Given the description of an element on the screen output the (x, y) to click on. 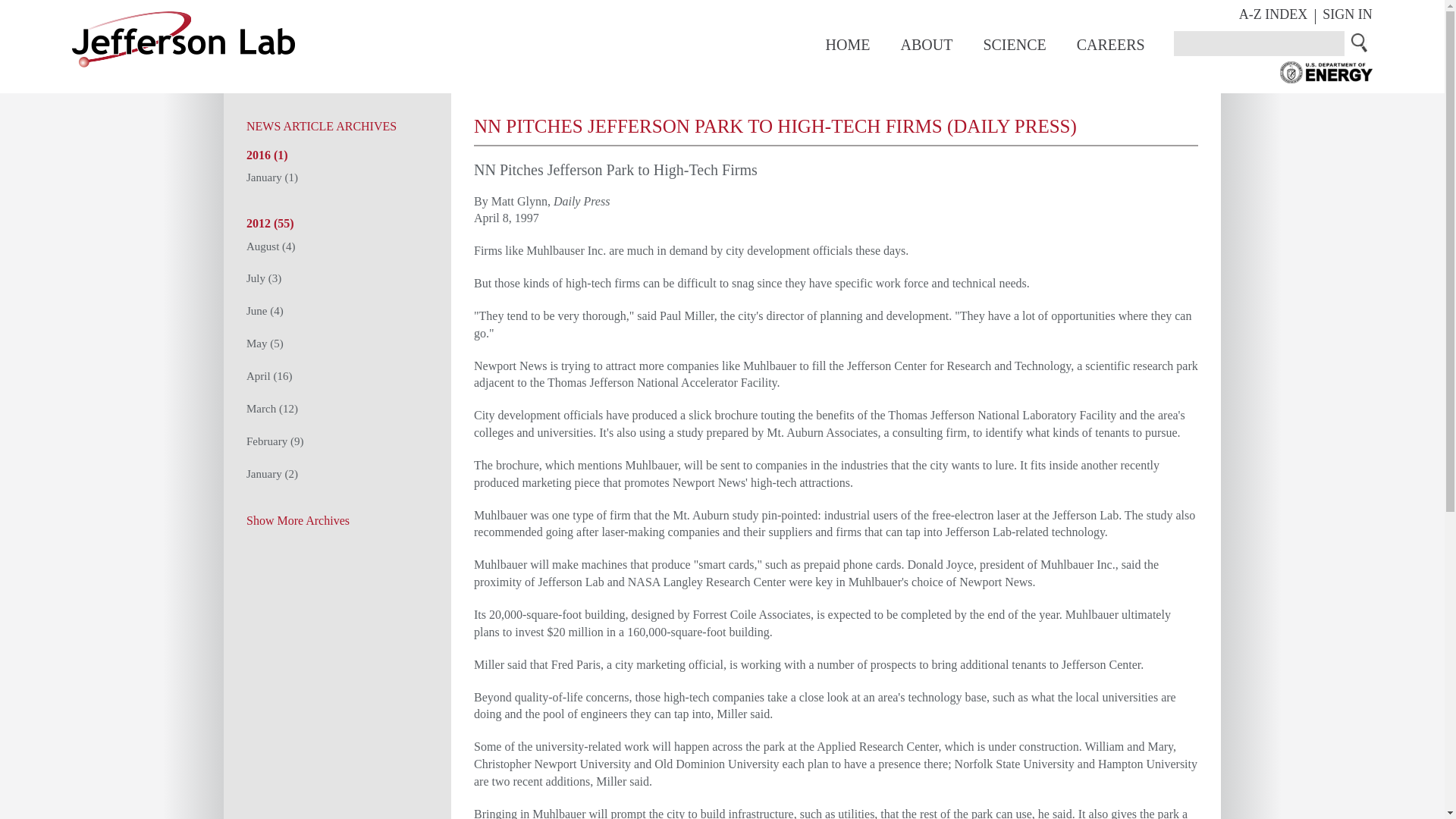
ABOUT (925, 44)
HOME (847, 44)
Search (1359, 42)
A-Z INDEX (1273, 14)
Search (1359, 42)
CAREERS (1110, 44)
SCIENCE (1013, 44)
SIGN IN (1347, 14)
